Given the description of an element on the screen output the (x, y) to click on. 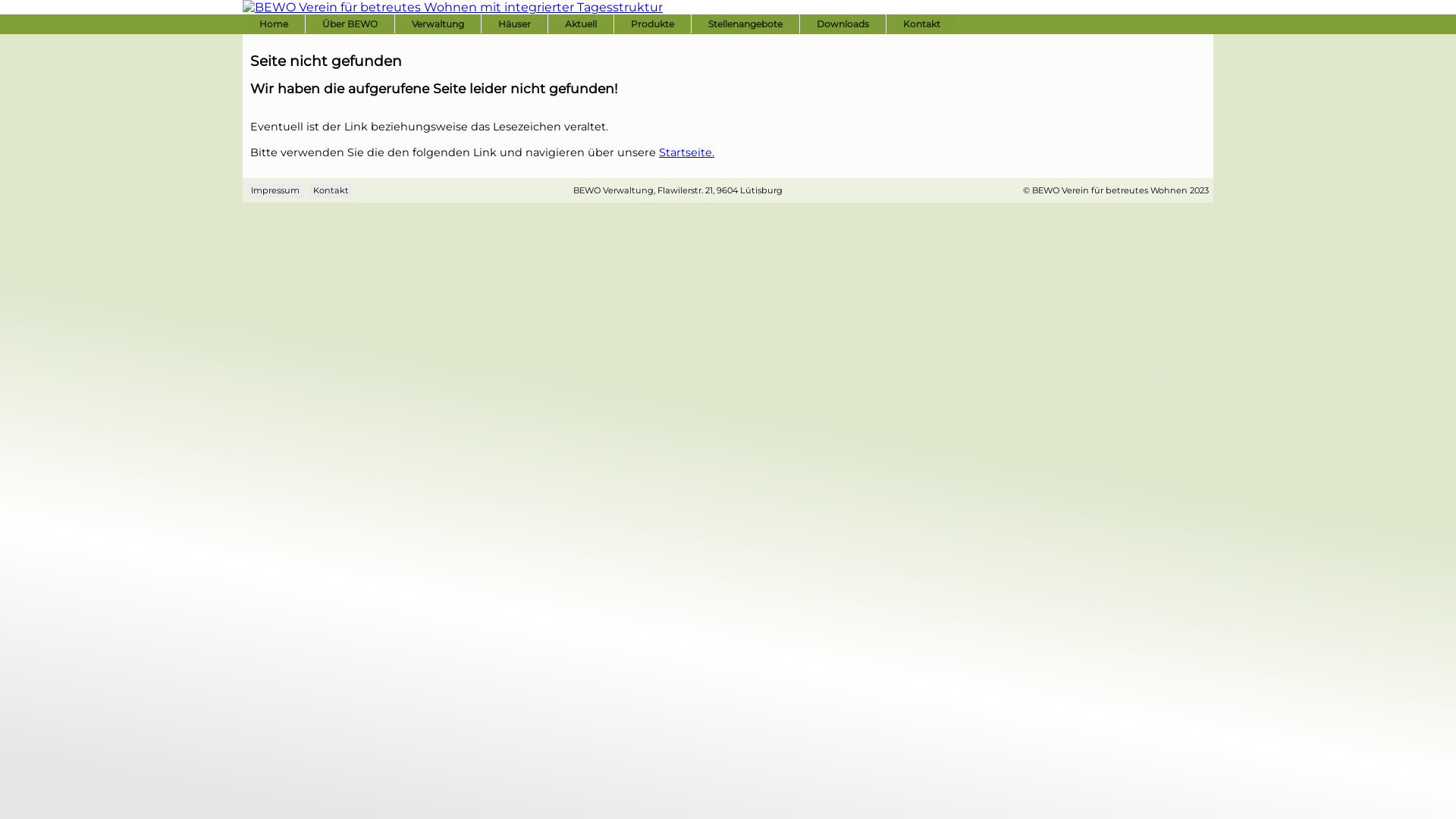
Produkte Element type: text (652, 23)
Home Element type: text (273, 23)
Verwaltung Element type: text (437, 23)
Impressum Element type: text (275, 190)
Downloads Element type: text (842, 23)
Kontakt Element type: text (330, 190)
Aktuell Element type: text (580, 23)
Startseite. Element type: text (686, 152)
Stellenangebote Element type: text (745, 23)
Kontakt Element type: text (921, 23)
